Given the description of an element on the screen output the (x, y) to click on. 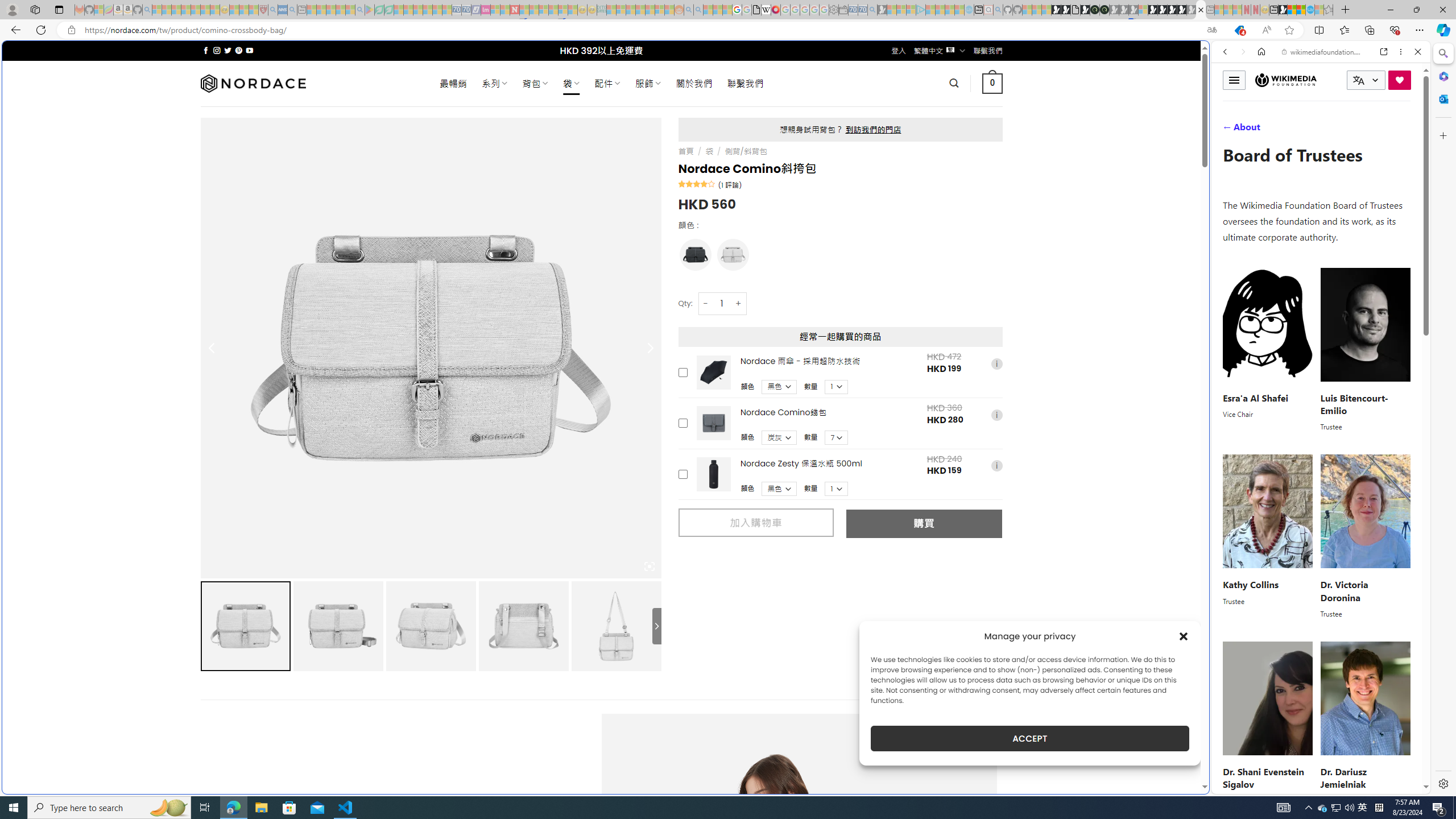
Sign in to your account - Sleeping (1143, 9)
